Given the description of an element on the screen output the (x, y) to click on. 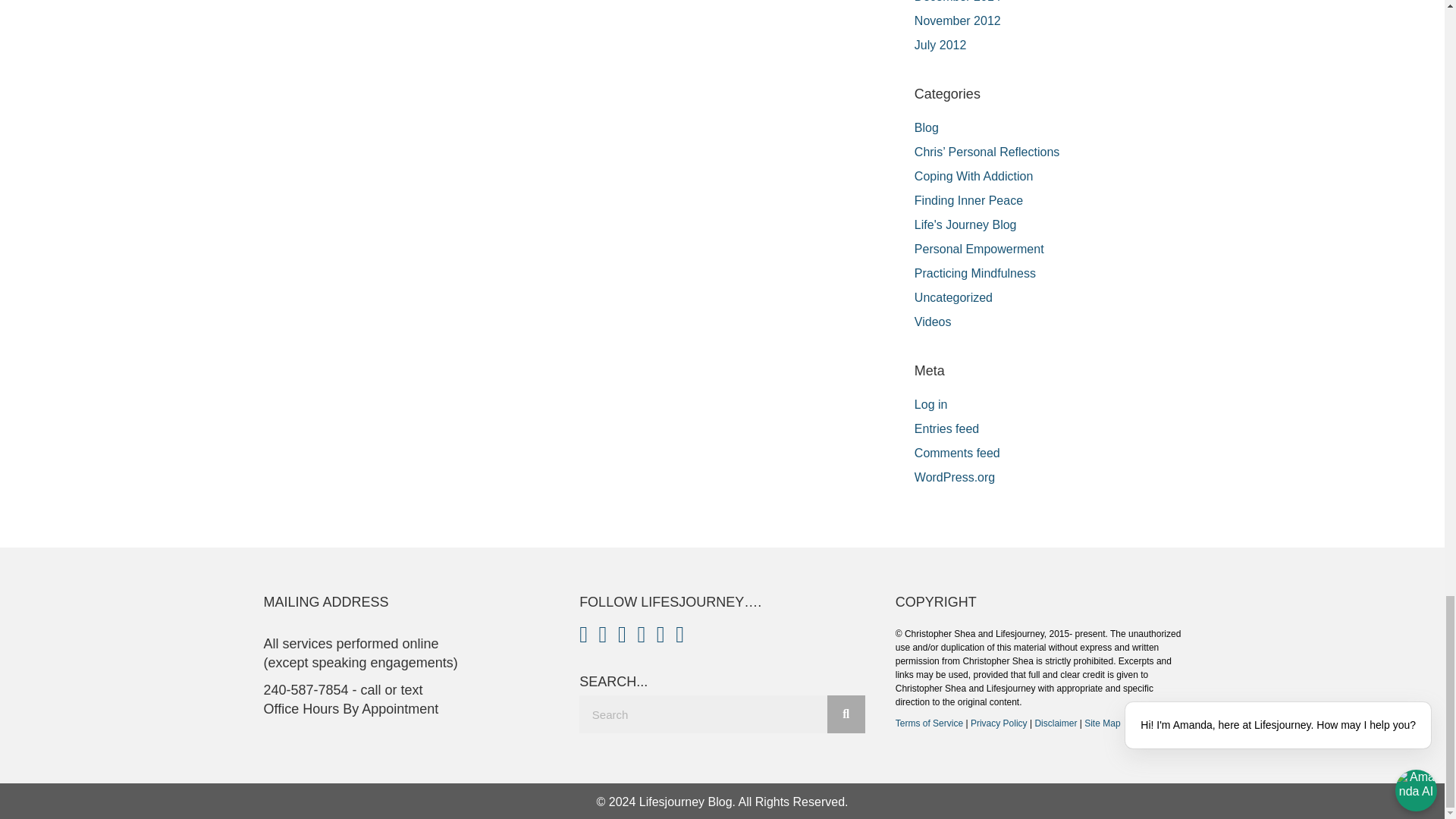
Search (703, 714)
